Given the description of an element on the screen output the (x, y) to click on. 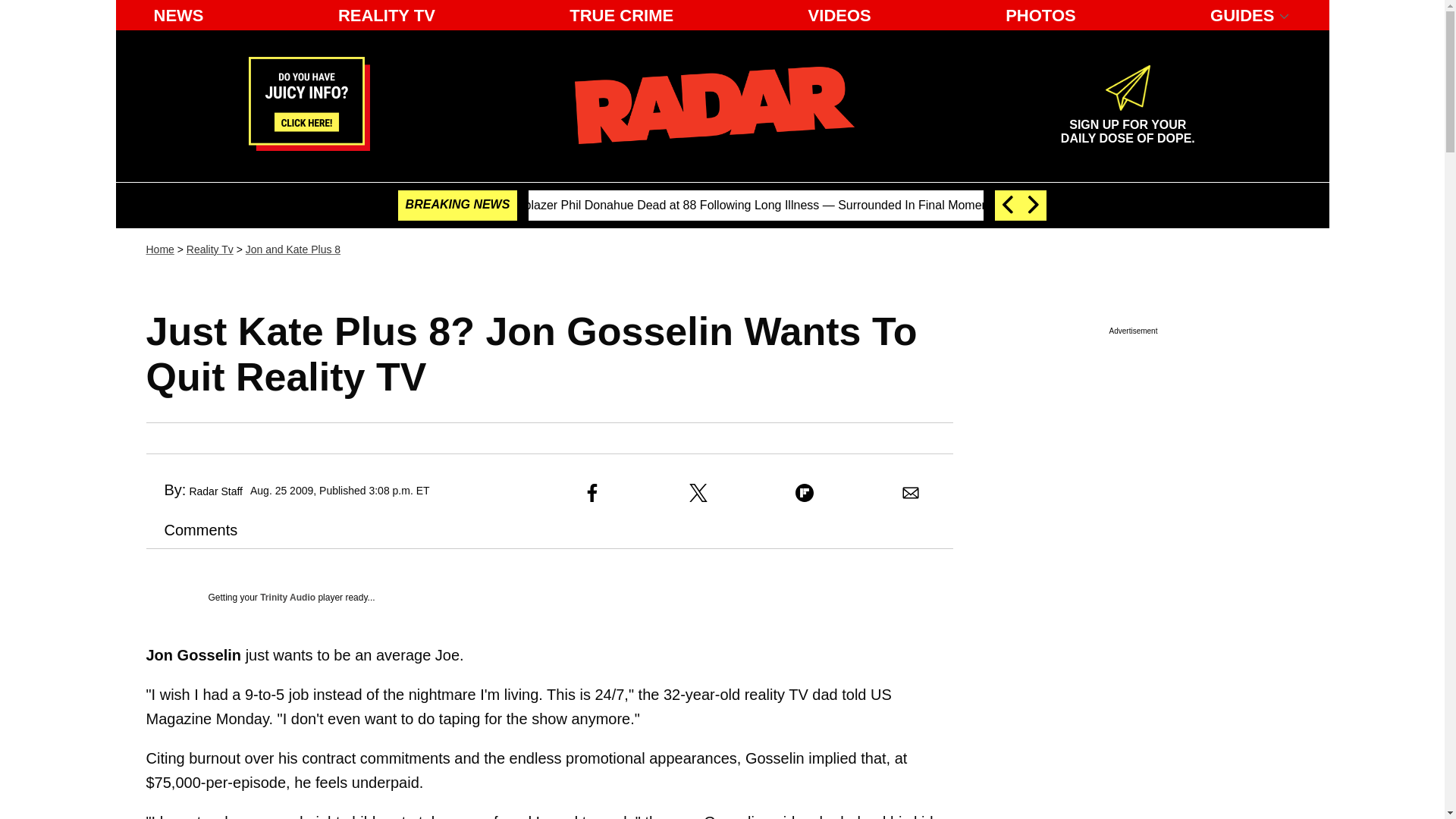
REALITY TV (386, 15)
VIDEOS (839, 15)
Sign up for your daily dose of dope. (1127, 124)
TRUE CRIME (621, 15)
Comments (191, 529)
PHOTOS (1040, 15)
Reality Tv (209, 249)
NEWS (1127, 124)
Trinity Audio (178, 15)
